Given the description of an element on the screen output the (x, y) to click on. 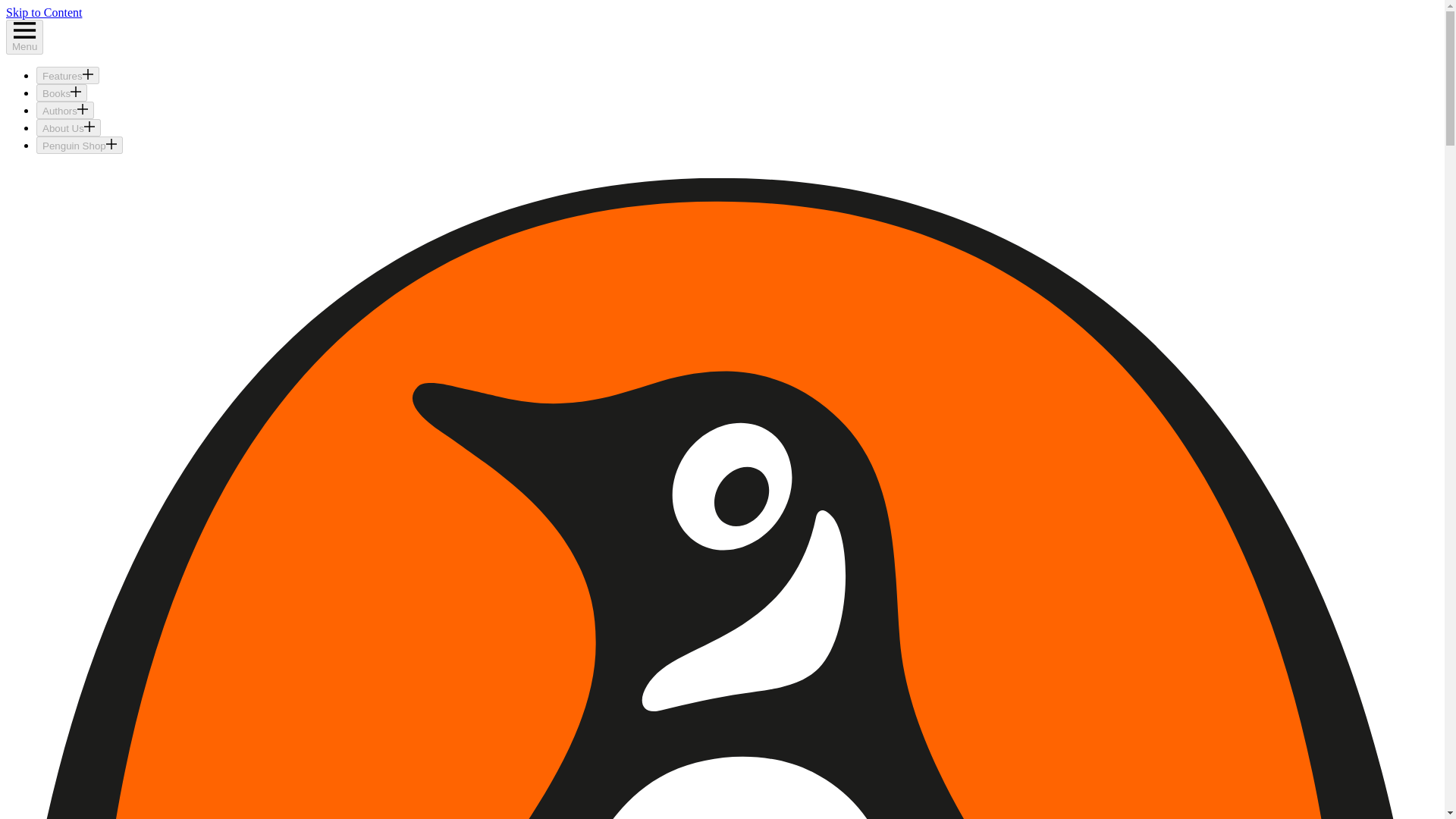
Features (67, 75)
About Us (68, 127)
Penguin Shop (79, 144)
Books (61, 92)
Skip to Content (43, 11)
Authors (65, 109)
Menu (24, 36)
